Given the description of an element on the screen output the (x, y) to click on. 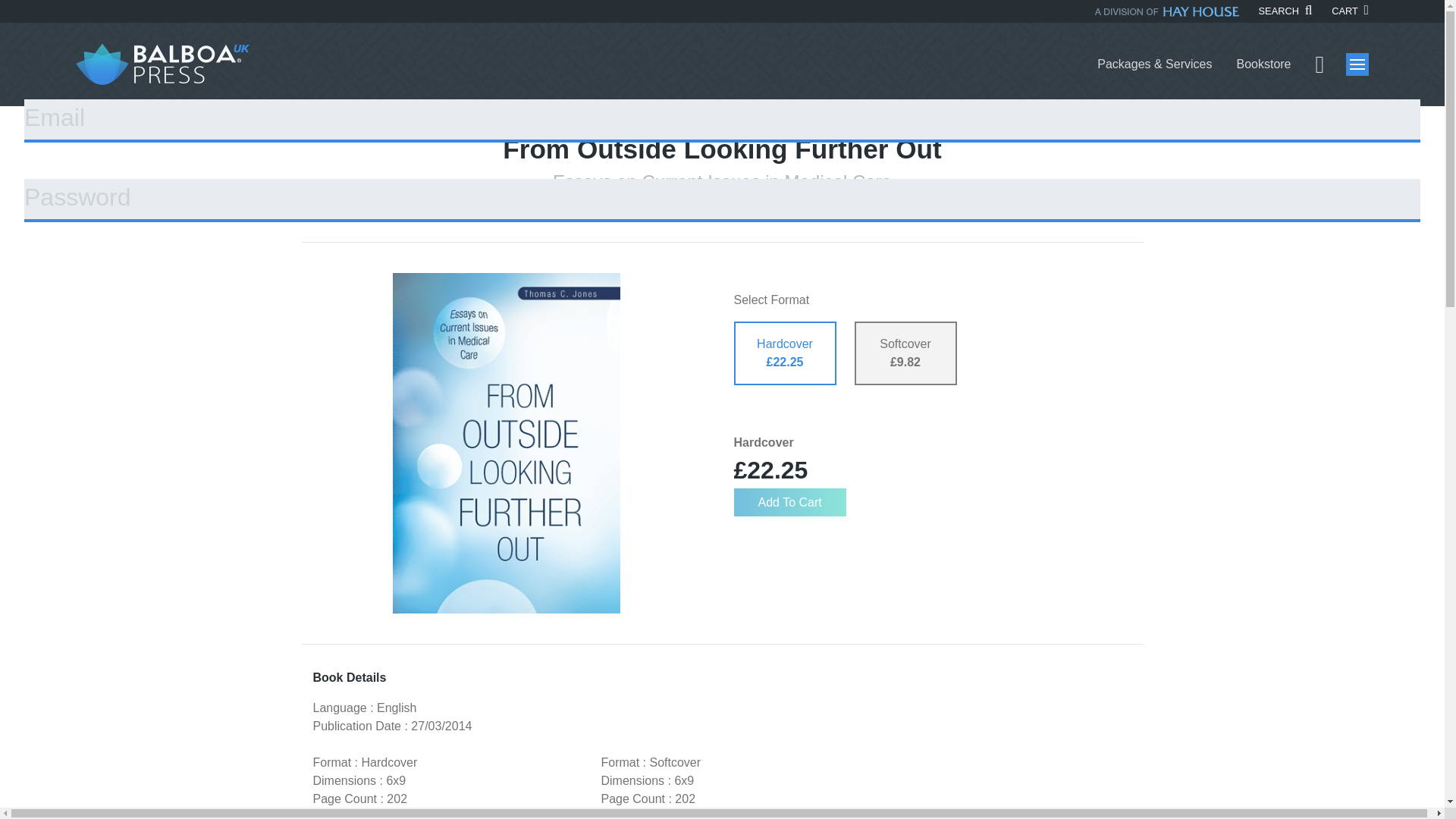
Menu (1356, 64)
CART (1350, 11)
SEARCH (1286, 11)
Bookstore (1263, 64)
Add To Cart (789, 502)
